Given the description of an element on the screen output the (x, y) to click on. 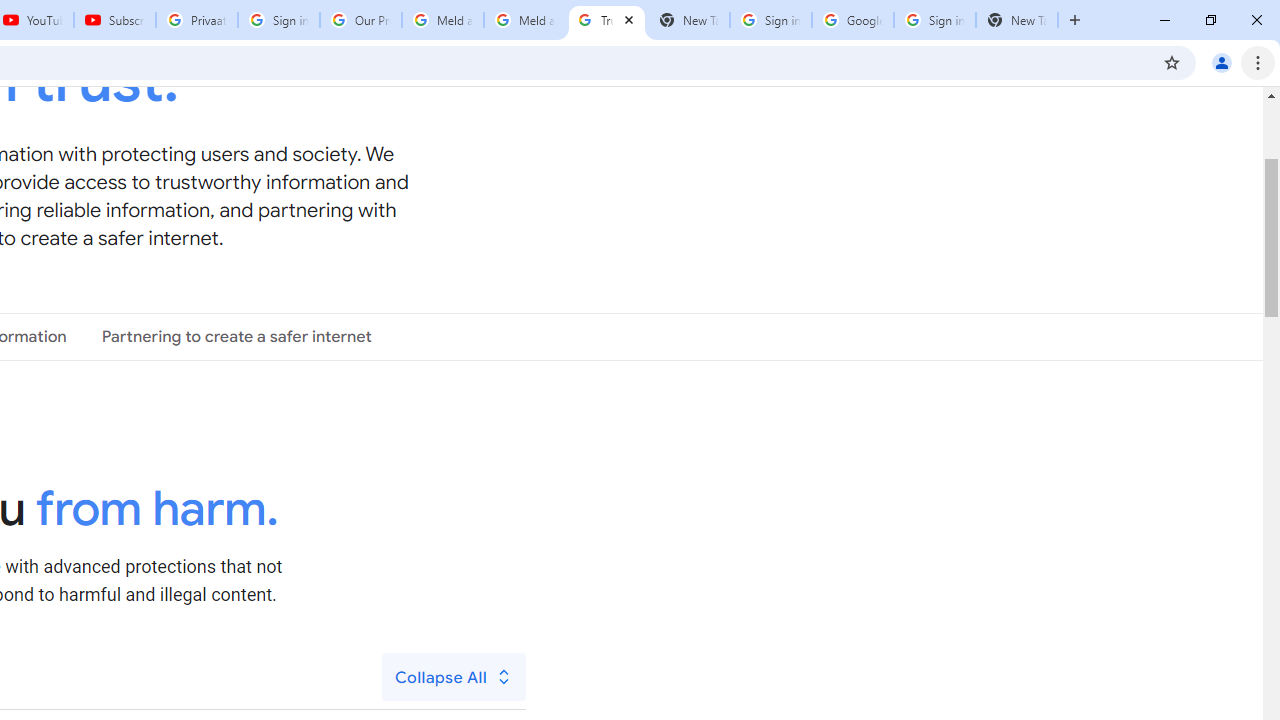
Partnering to create a safer internet (236, 336)
Google Cybersecurity Innovations - Google Safety Center (852, 20)
New Tab (1016, 20)
Sign in - Google Accounts (770, 20)
